Given the description of an element on the screen output the (x, y) to click on. 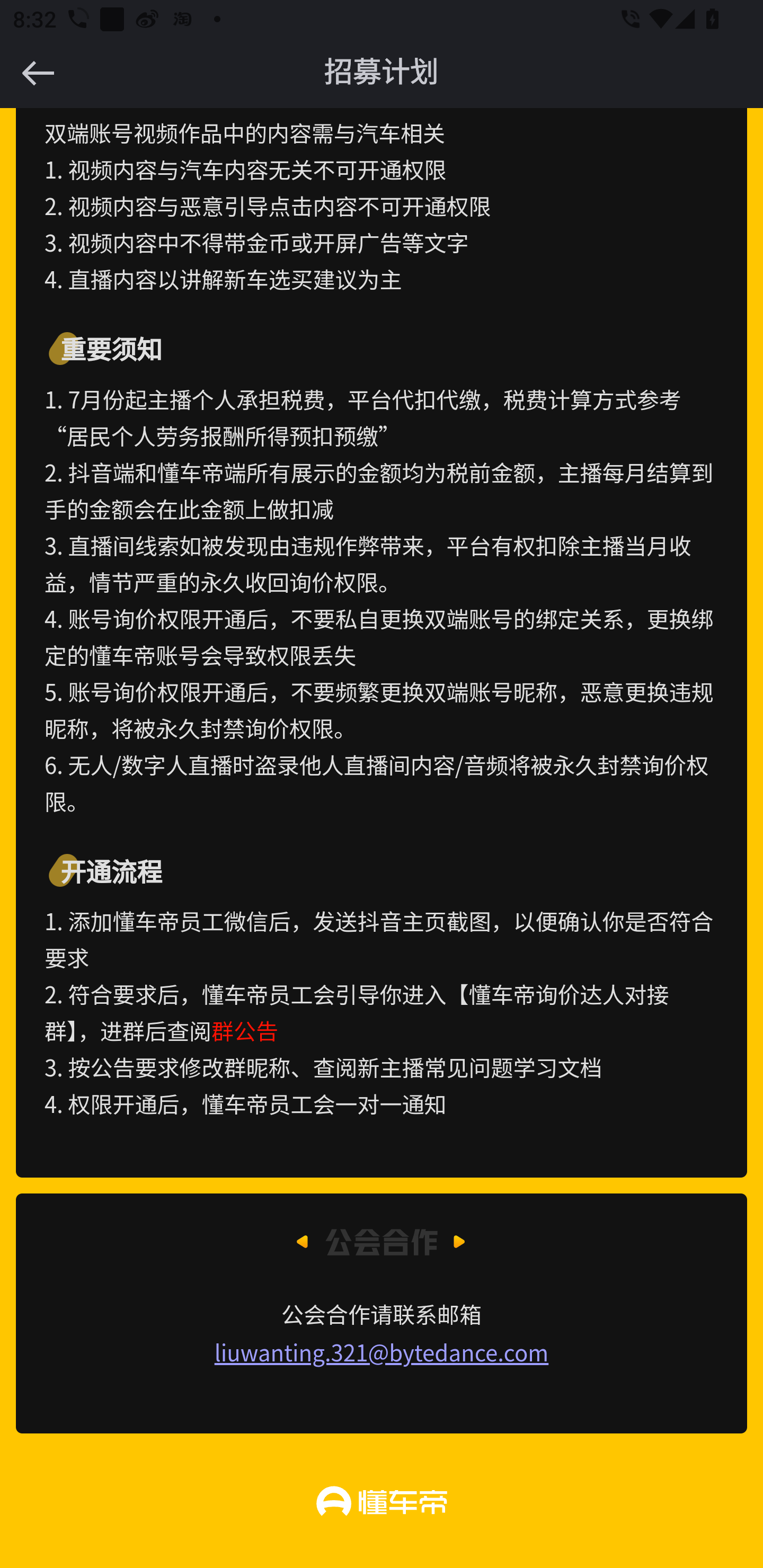
招募计划 (381, 72)
liuwanting.321@bytedance.com (381, 1352)
